Given the description of an element on the screen output the (x, y) to click on. 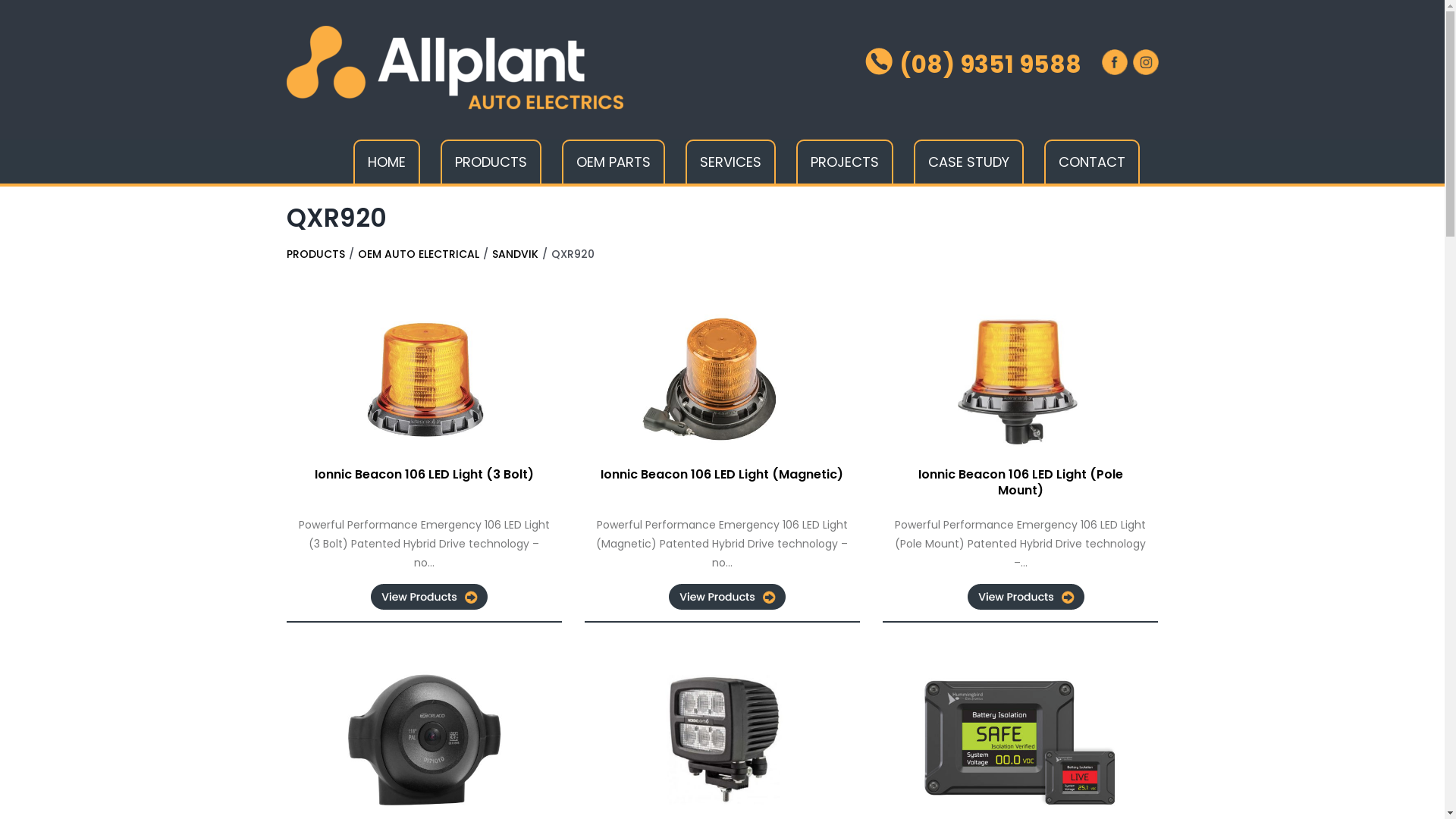
(08) 9351 9588 Element type: text (972, 64)
PRODUCTS Element type: text (315, 253)
Ionnic Beacon 106 LED Light (3 Bolt) Element type: text (423, 474)
SERVICES Element type: text (730, 161)
PRODUCTS Element type: text (489, 161)
HOME Element type: text (386, 161)
OEM AUTO ELECTRICAL Element type: text (418, 253)
OEM PARTS Element type: text (612, 161)
PROJECTS Element type: text (844, 161)
CONTACT Element type: text (1091, 161)
Ionnic Beacon 106 LED Light (Magnetic) Element type: text (721, 474)
CASE STUDY Element type: text (967, 161)
Ionnic Beacon 106 LED Light (Pole Mount) Element type: text (1020, 481)
SANDVIK Element type: text (514, 253)
